Given the description of an element on the screen output the (x, y) to click on. 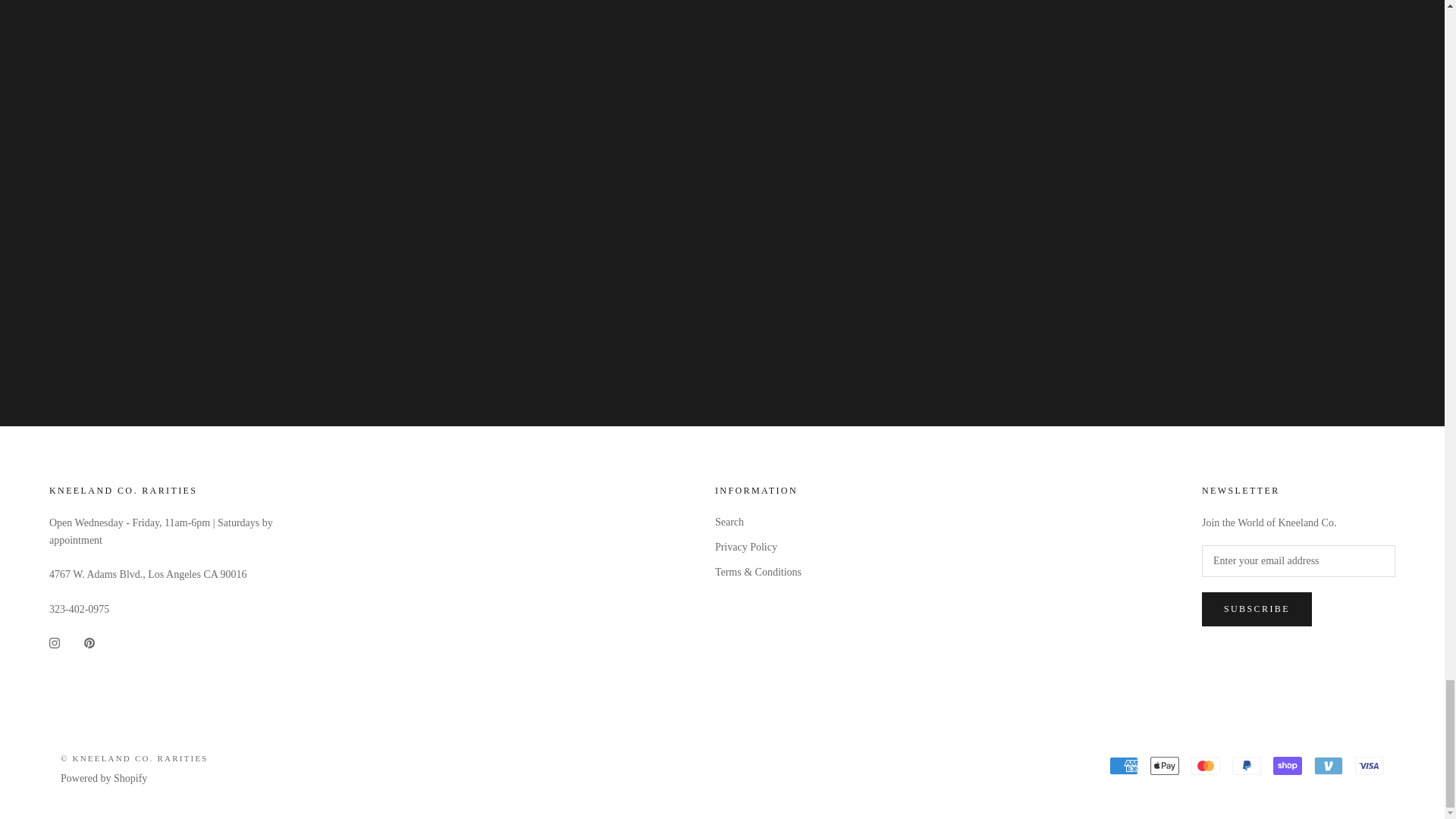
American Express (1123, 765)
PayPal (1245, 765)
Apple Pay (1164, 765)
Venmo (1328, 765)
Shop Pay (1286, 765)
Mastercard (1205, 765)
Visa (1369, 765)
